Given the description of an element on the screen output the (x, y) to click on. 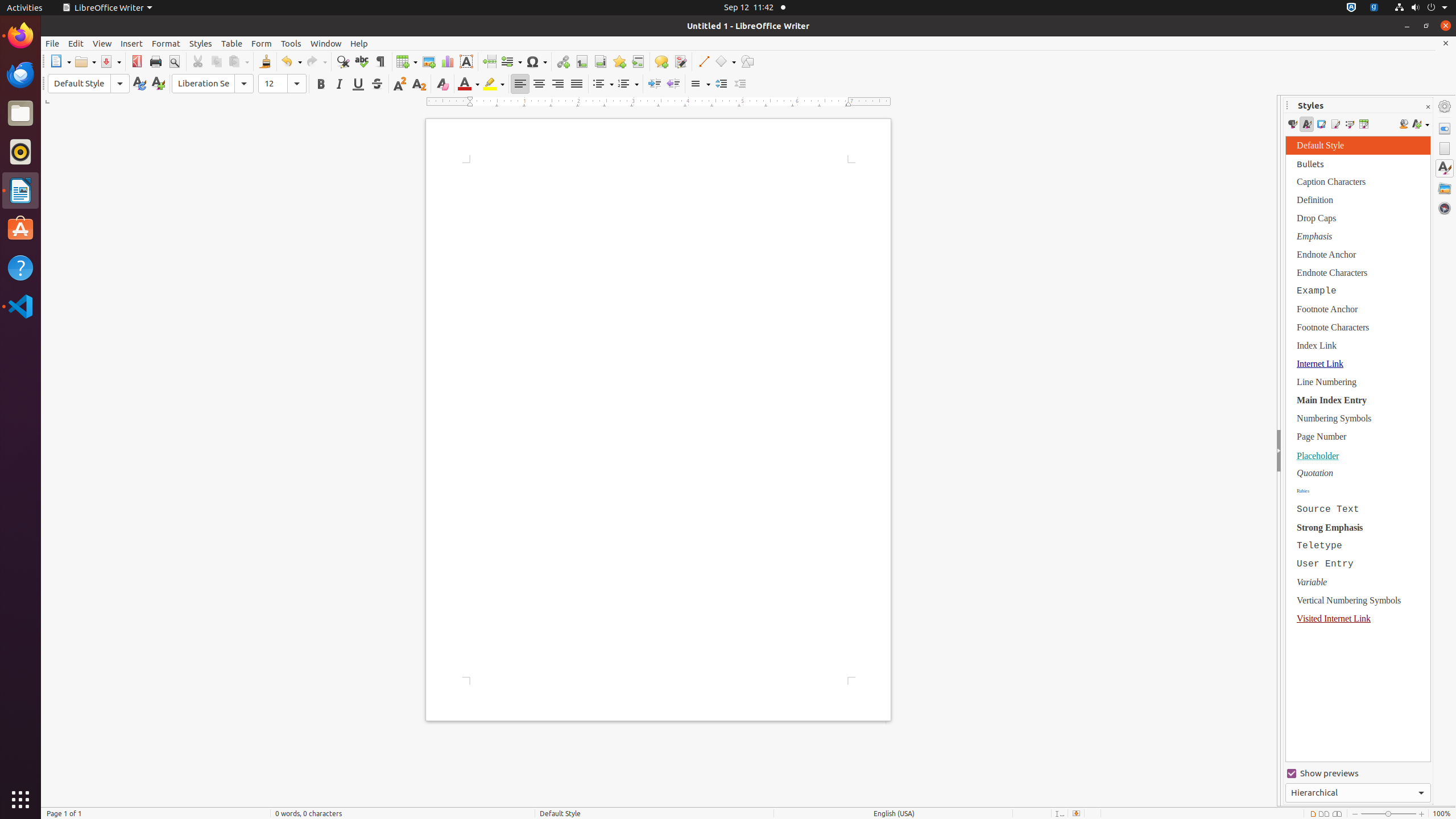
Font Color Element type: push-button (468, 83)
Save Element type: push-button (109, 61)
Styles Element type: radio-button (1444, 168)
Highlight Color Element type: push-button (493, 83)
Styles Element type: menu (200, 43)
